Given the description of an element on the screen output the (x, y) to click on. 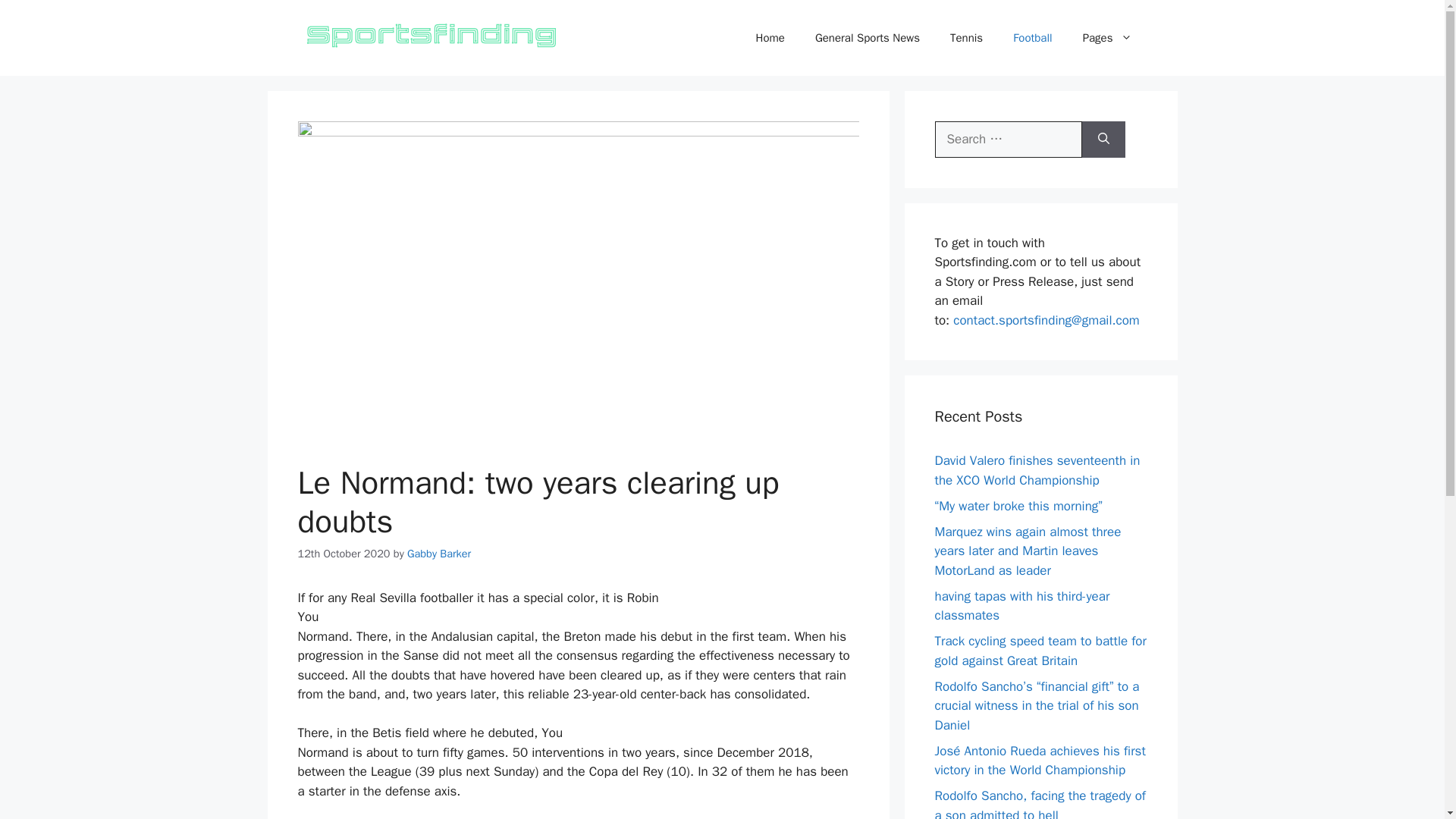
Home (770, 37)
having tapas with his third-year classmates (1021, 606)
Tennis (965, 37)
Pages (1107, 37)
View all posts by Gabby Barker (438, 553)
General Sports News (866, 37)
Football (1032, 37)
Rodolfo Sancho, facing the tragedy of a son admitted to hell (1039, 803)
Gabby Barker (438, 553)
